Given the description of an element on the screen output the (x, y) to click on. 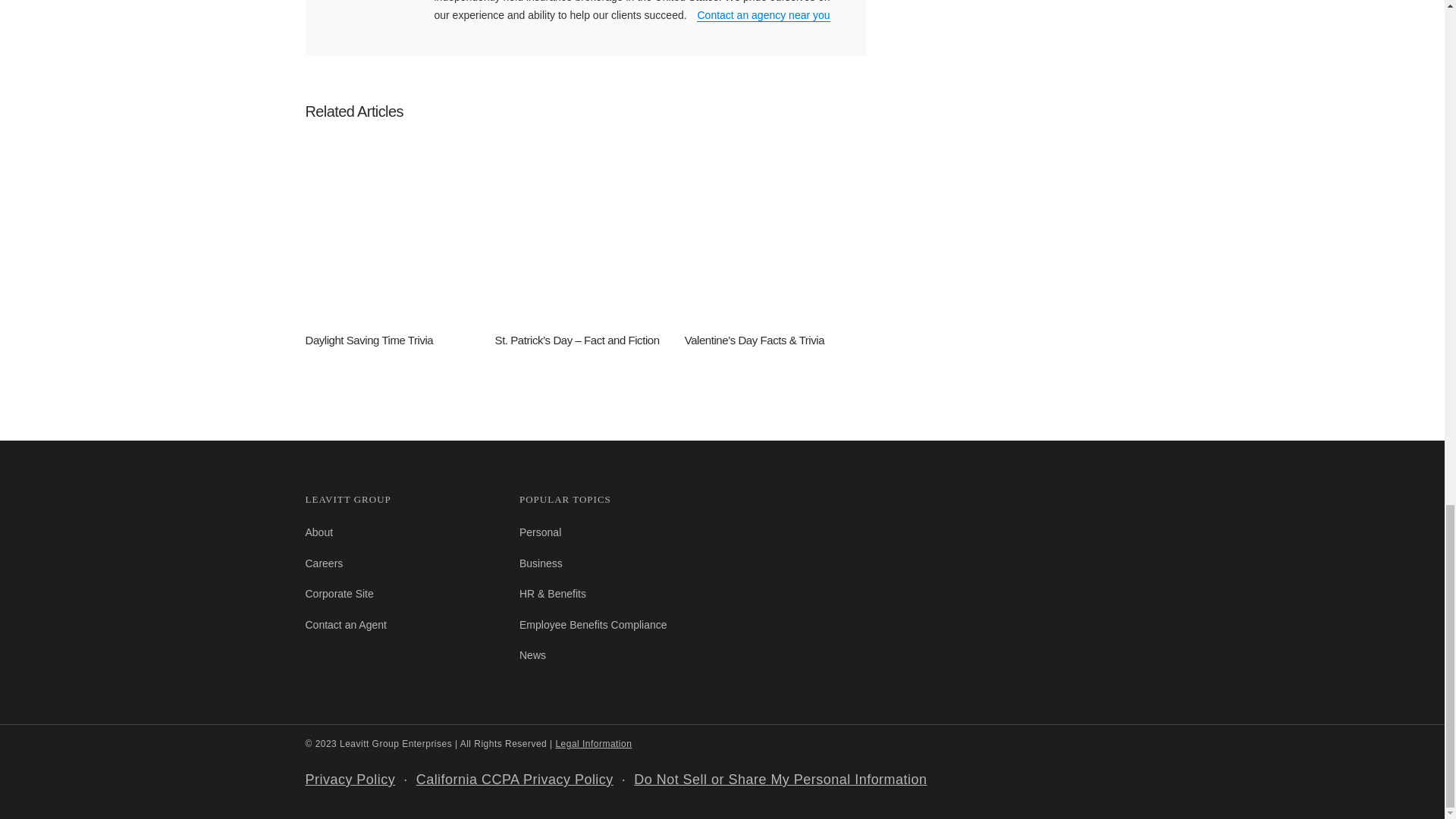
Contact an Agent (344, 624)
Corporate Site (338, 593)
California CCPA Privacy Policy (514, 779)
Privacy Policy (349, 779)
Legal Information (592, 743)
About (318, 532)
Personal (539, 532)
Employee Benefits Compliance (592, 624)
Contact an agency near you (763, 15)
Go to Leavitt.com (338, 593)
Contact an Agent (344, 624)
Business (540, 563)
Careers (323, 563)
About Leavitt Group (318, 532)
News (532, 654)
